Given the description of an element on the screen output the (x, y) to click on. 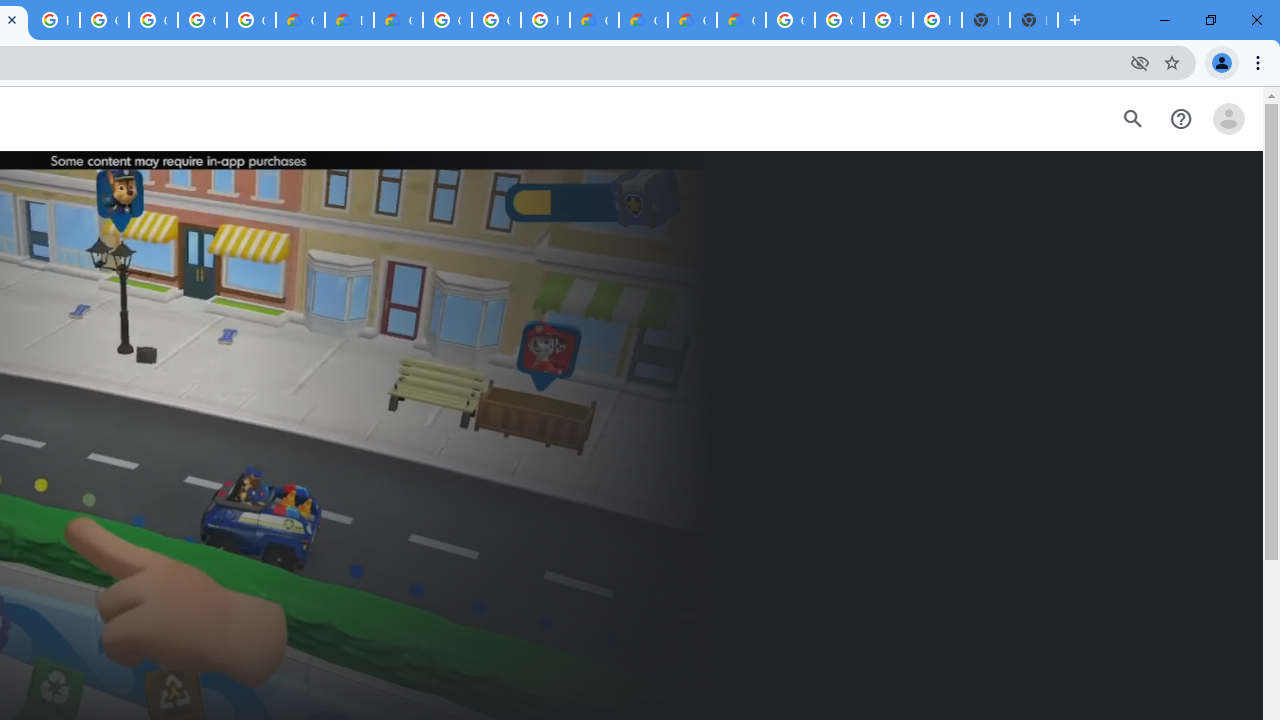
Google Workspace - Specific Terms (251, 20)
Google Cloud Pricing Calculator (643, 20)
Customer Care | Google Cloud (300, 20)
Google Cloud Service Health (740, 20)
Customer Care | Google Cloud (594, 20)
Help Center (1180, 119)
Gemini for Business and Developers | Google Cloud (398, 20)
New Tab (1033, 20)
